Given the description of an element on the screen output the (x, y) to click on. 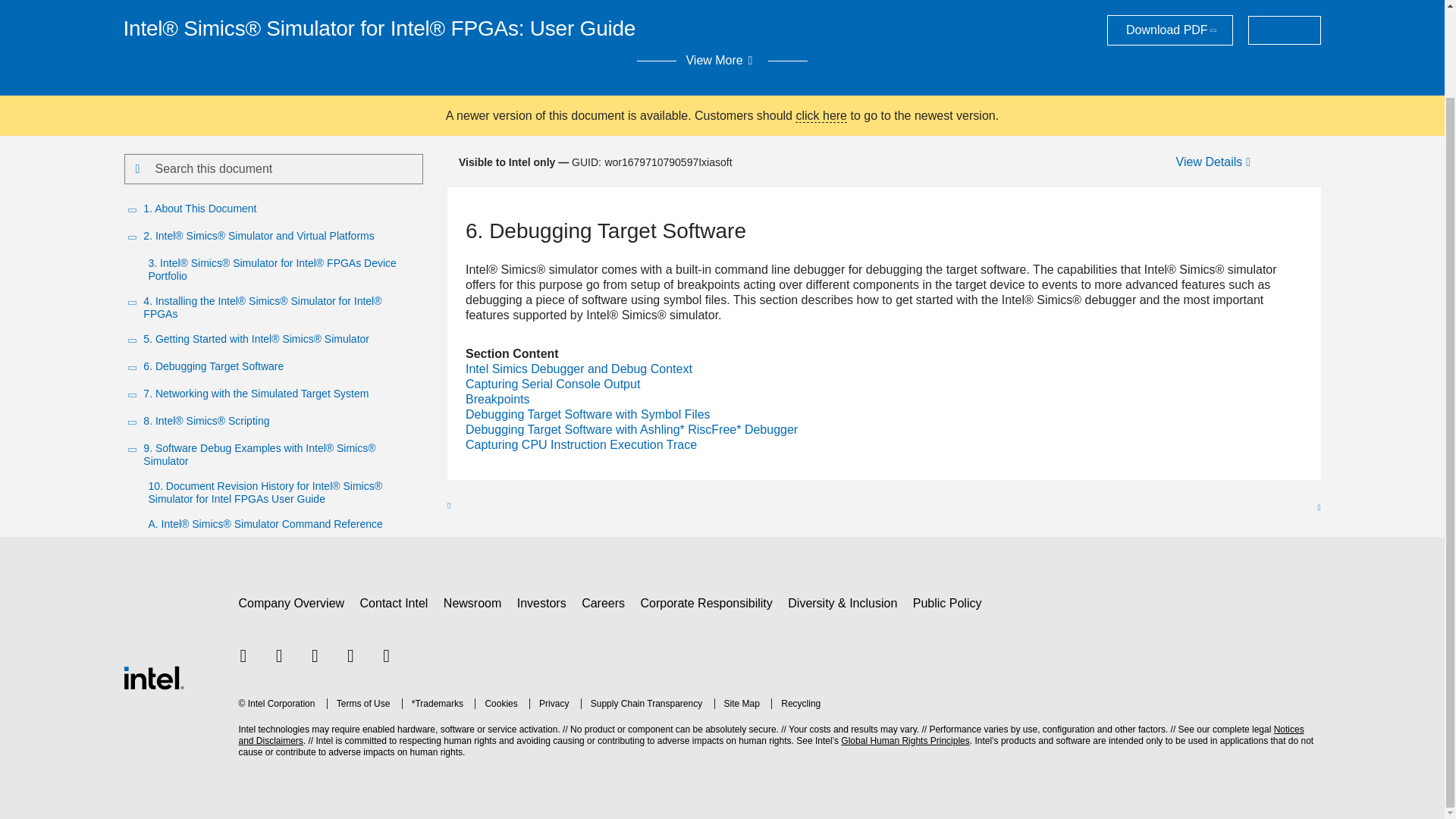
Intel Footer Logo (152, 677)
Intel Footer Logo (152, 676)
